Given the description of an element on the screen output the (x, y) to click on. 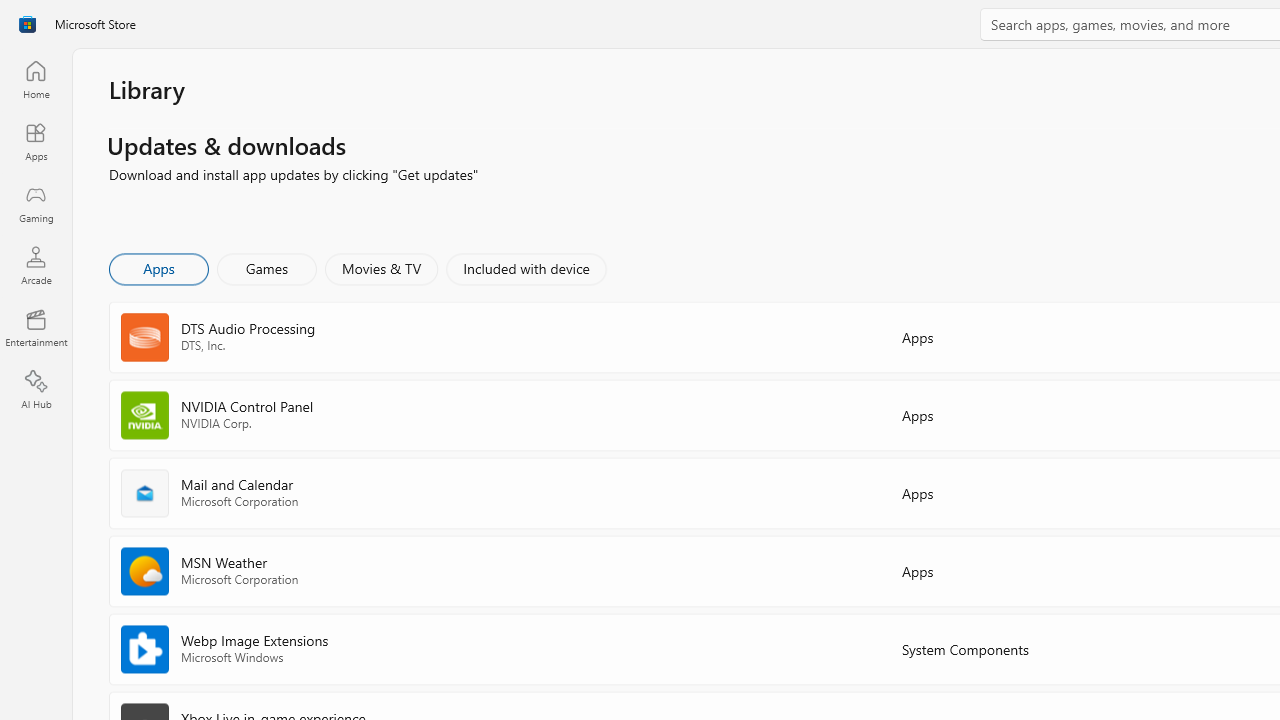
Entertainment (35, 327)
Home (35, 79)
Movies & TV (381, 268)
Arcade (35, 265)
AI Hub (35, 390)
Class: Image (27, 24)
Included with device (525, 268)
Apps (35, 141)
Apps (158, 268)
Games (267, 268)
Gaming (35, 203)
